Given the description of an element on the screen output the (x, y) to click on. 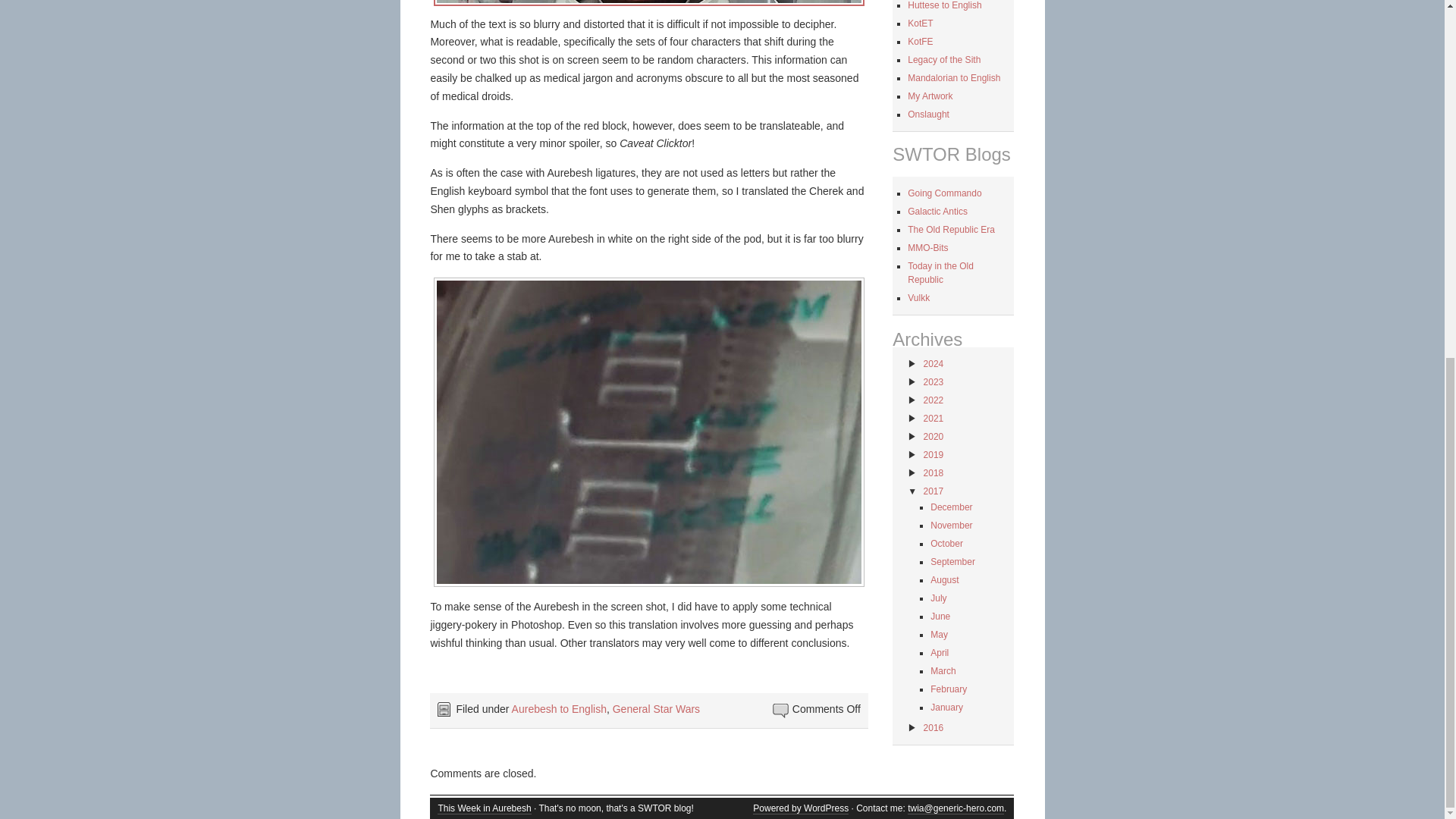
KotET (920, 23)
This Week in Aurebesh (484, 808)
Galactic Antics (937, 211)
MMO-Bits (927, 247)
My Artwork (929, 95)
Legacy of the Sith (943, 59)
Going Commando (944, 193)
General Star Wars (656, 708)
Mandalorian to English (953, 77)
A Semantic Personal Publishing Platform (800, 808)
